Given the description of an element on the screen output the (x, y) to click on. 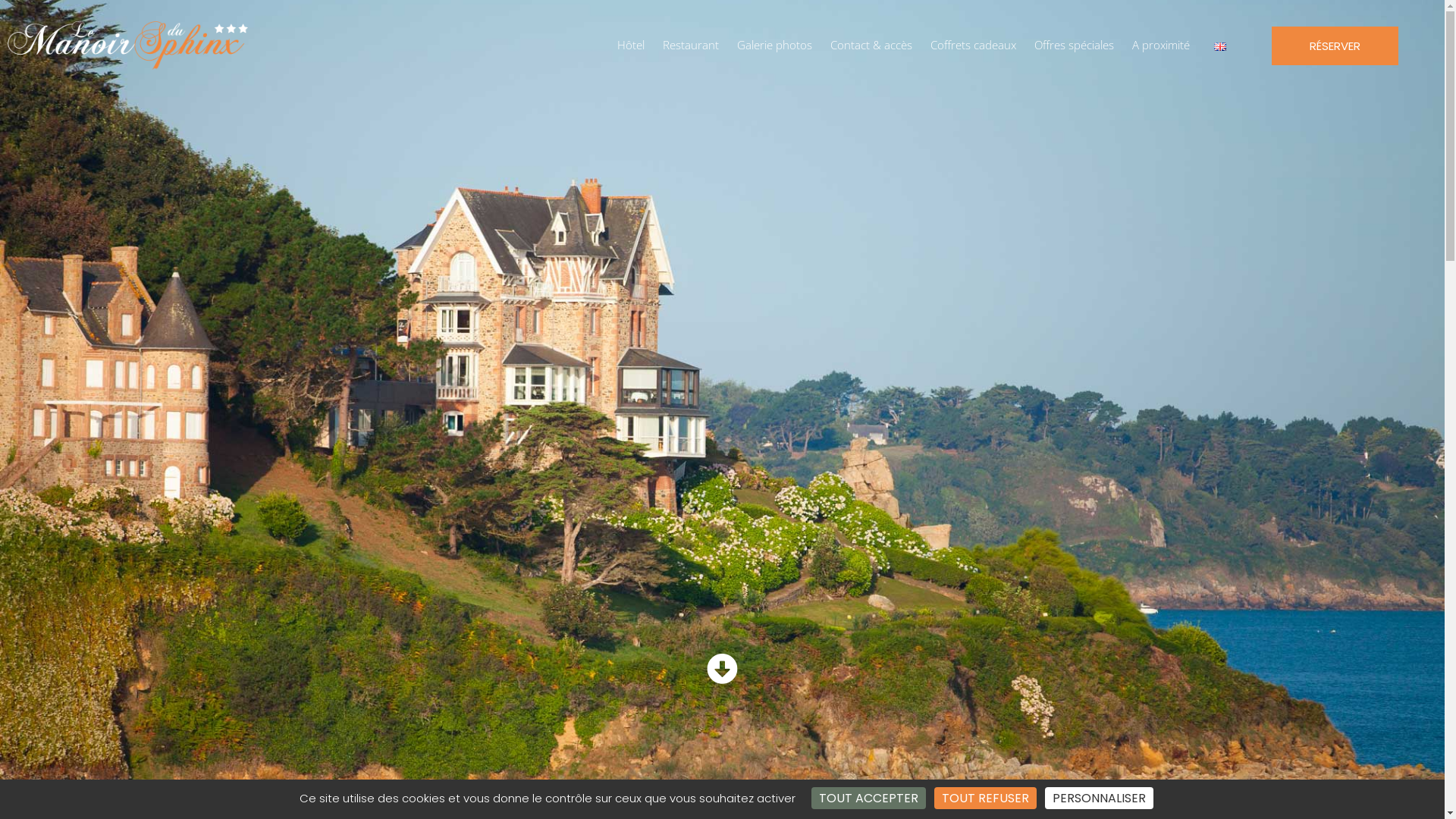
Galerie photos Element type: text (774, 45)
TOUT REFUSER Element type: text (985, 798)
English Element type: hover (1220, 46)
Restaurant Element type: text (690, 45)
PERSONNALISER Element type: text (1098, 798)
TOUT ACCEPTER Element type: text (868, 798)
Coffrets cadeaux Element type: text (973, 45)
